Given the description of an element on the screen output the (x, y) to click on. 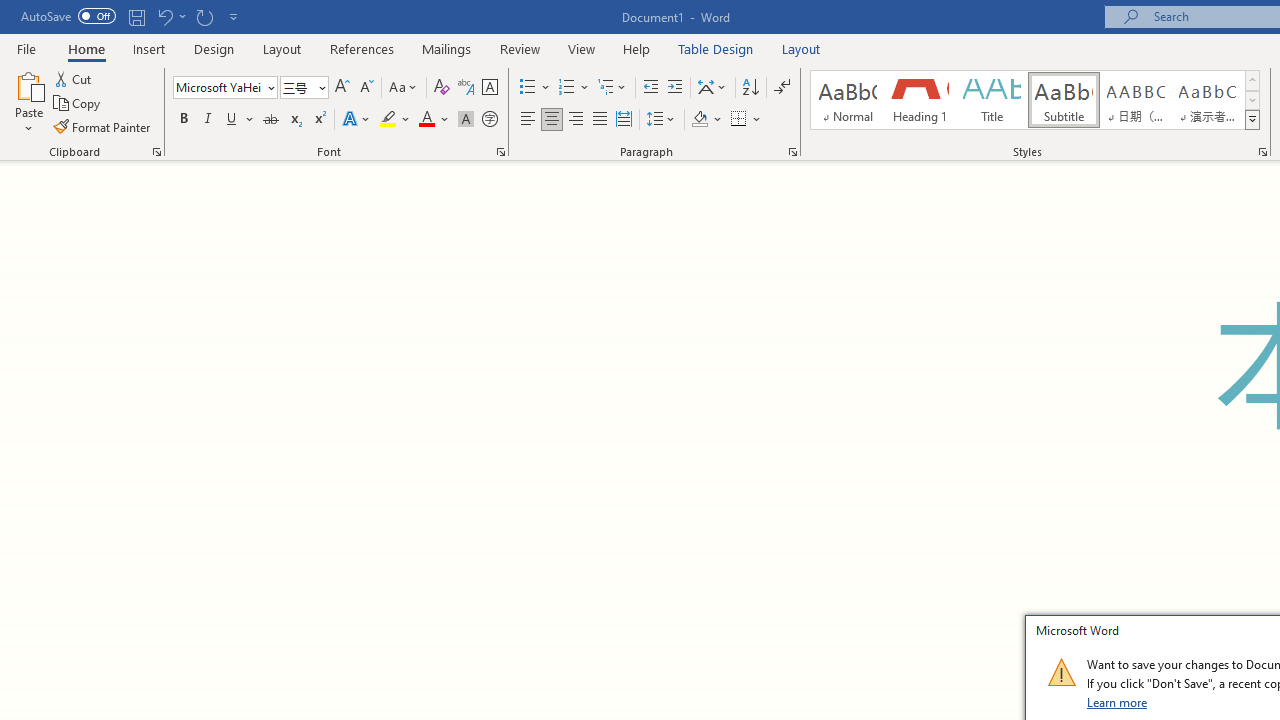
Line and Paragraph Spacing (661, 119)
Asian Layout (712, 87)
Font... (500, 151)
Styles (1252, 120)
Subscript (294, 119)
Font Color Red (426, 119)
Text Highlight Color (395, 119)
Strikethrough (270, 119)
Copy (78, 103)
Text Highlight Color Yellow (388, 119)
